Given the description of an element on the screen output the (x, y) to click on. 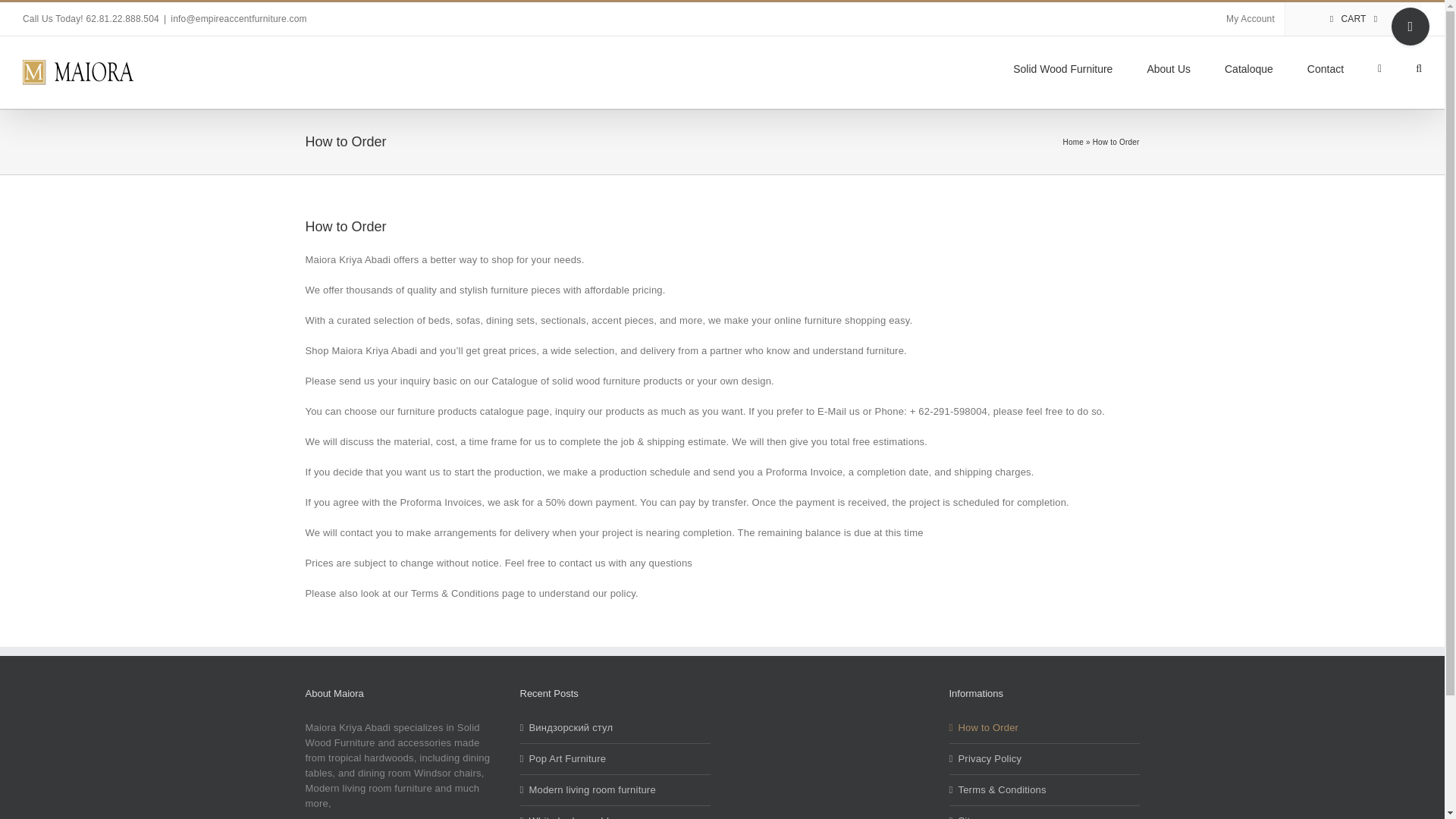
Home (1072, 142)
Modern living room furniture (616, 789)
CART (1353, 19)
White bedroom Ideas (616, 816)
Solid Wood Furniture (1062, 67)
Privacy Policy (1045, 758)
Log In (1309, 146)
Solid Wood Furniture (1062, 67)
Sitemap (1045, 816)
My Account (1249, 19)
